Given the description of an element on the screen output the (x, y) to click on. 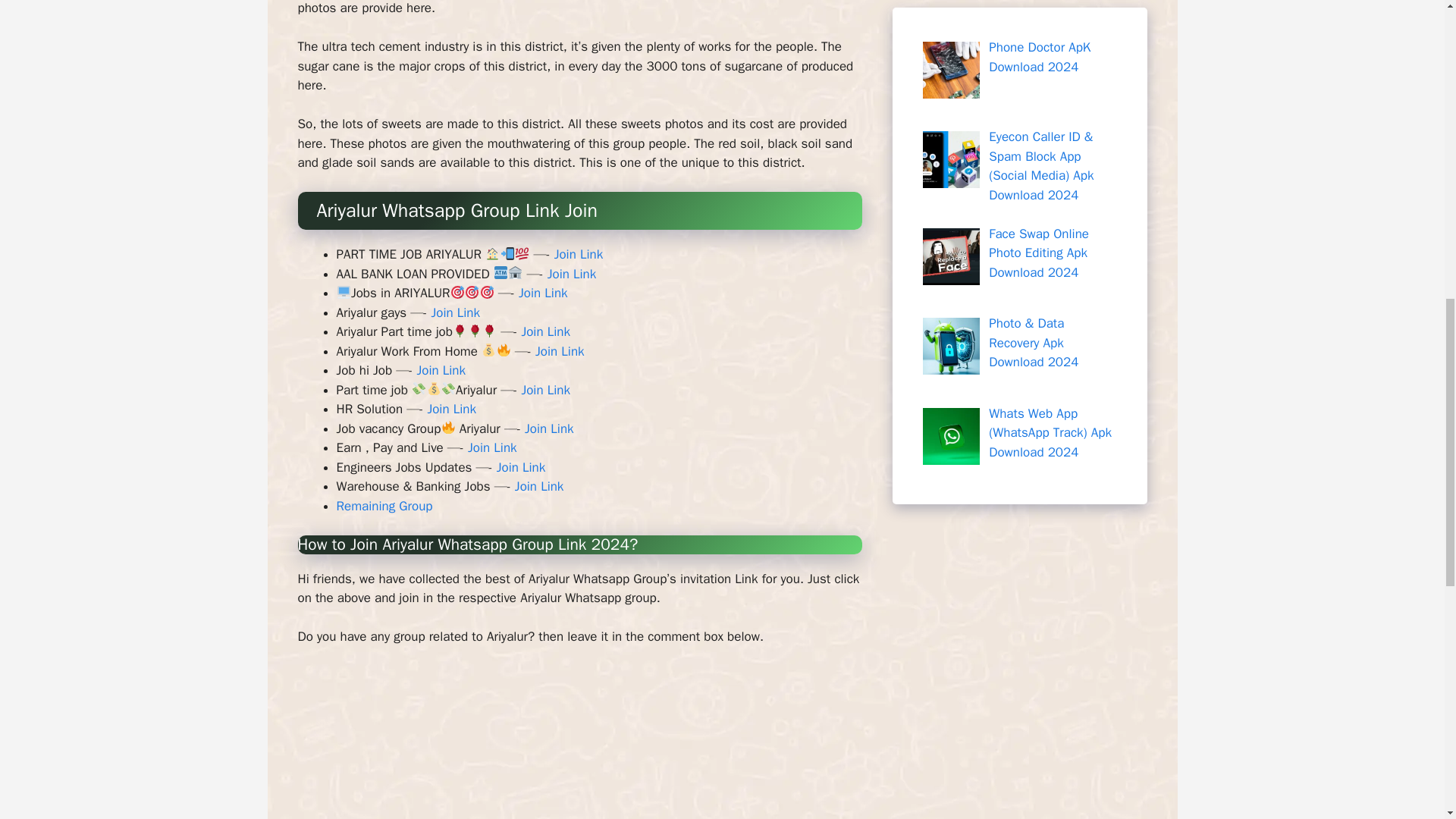
Remaining Group (384, 505)
Join Link (491, 447)
Join Link (539, 486)
Scroll back to top (1406, 720)
Join Link (521, 467)
Join Link (548, 428)
Join Link (545, 390)
Join Link (579, 254)
Join Link (560, 351)
Join Link (545, 331)
Join Link (451, 408)
Join Link (440, 370)
Join Link (455, 312)
Join Link (571, 273)
Join Link (542, 293)
